Given the description of an element on the screen output the (x, y) to click on. 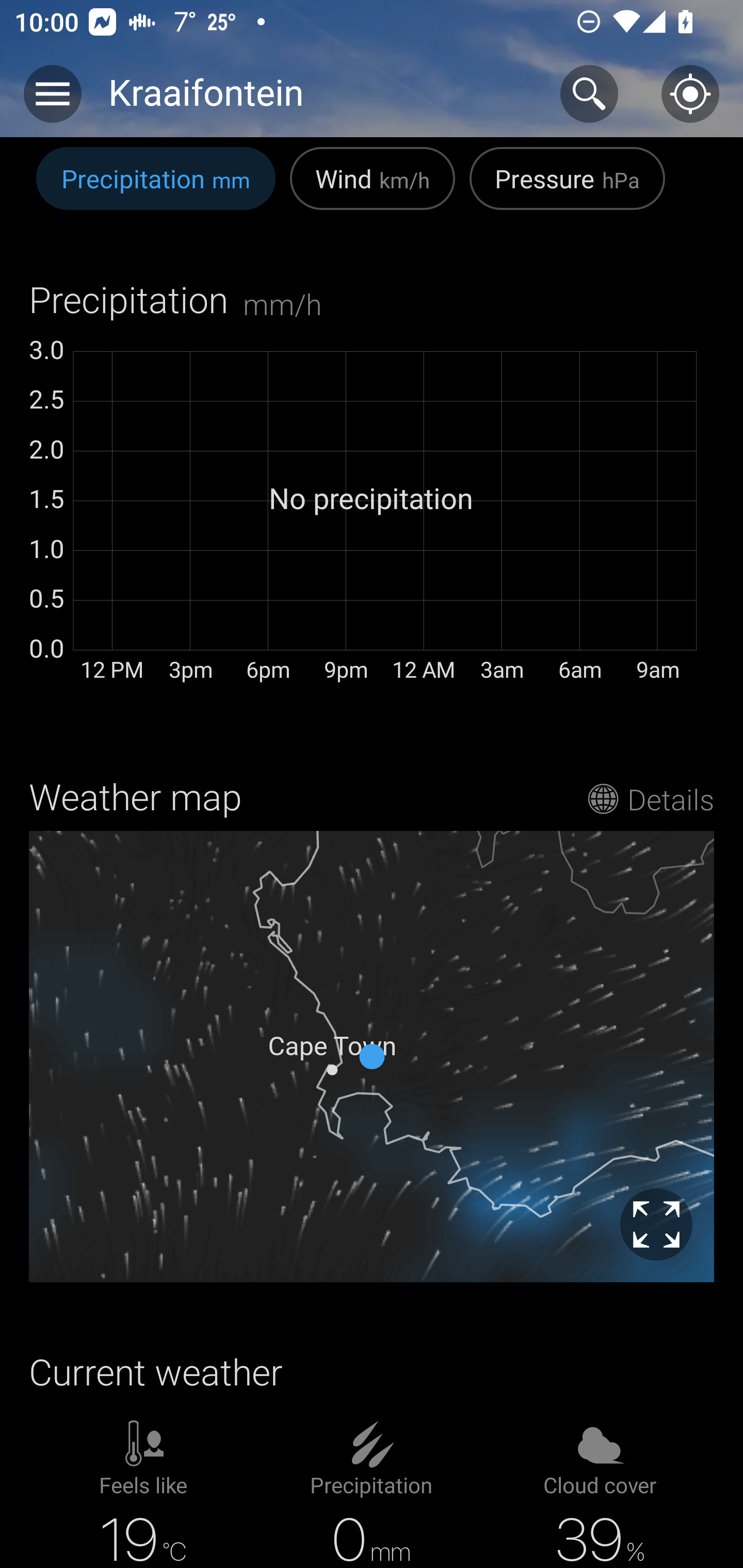
Precipitation mm (155, 188)
Wind km/h (372, 188)
Pressure hPa (567, 188)
